Given the description of an element on the screen output the (x, y) to click on. 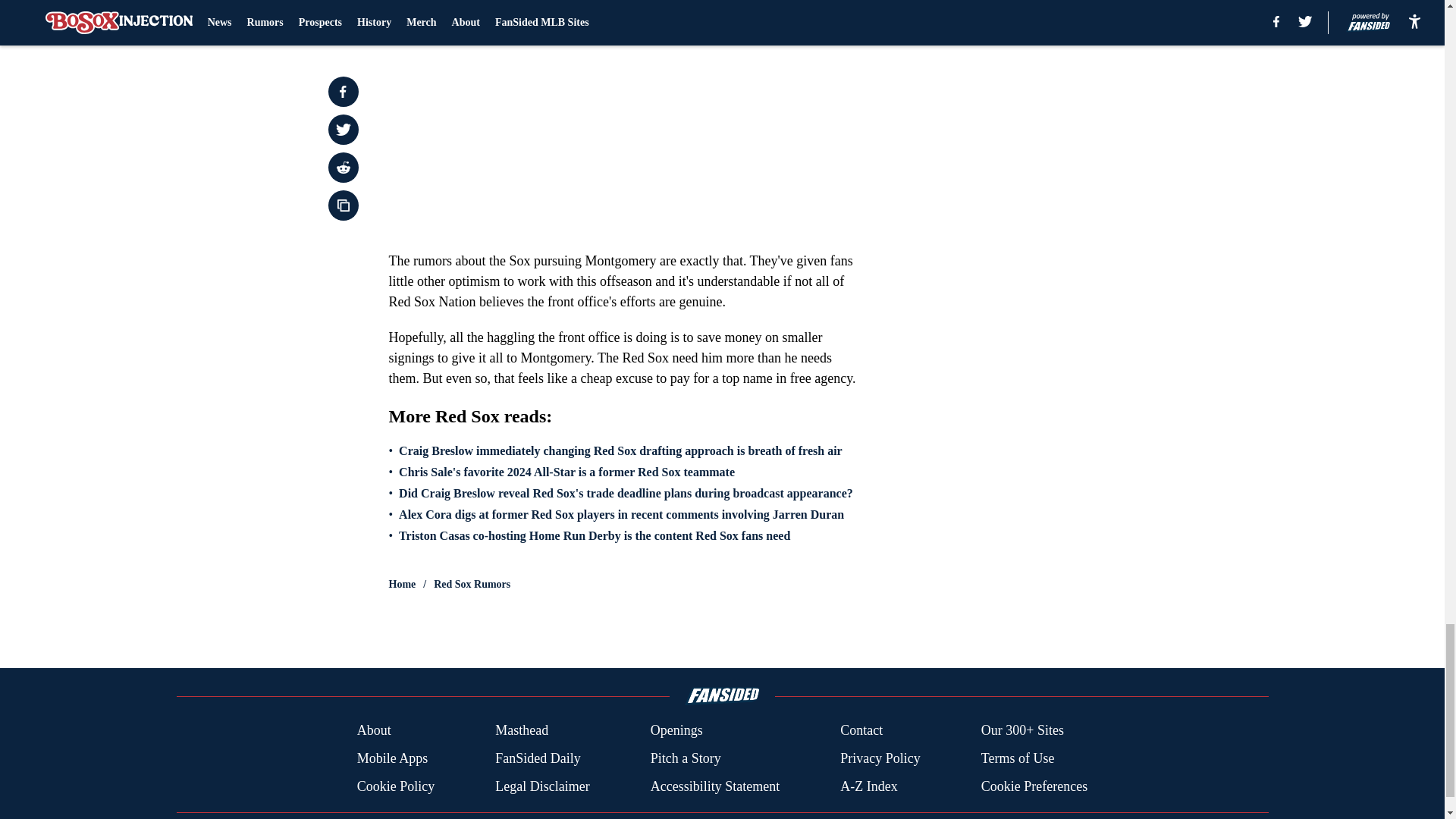
Masthead (521, 730)
Red Sox Rumors (472, 584)
Contact (861, 730)
Openings (676, 730)
About (373, 730)
Home (401, 584)
